Given the description of an element on the screen output the (x, y) to click on. 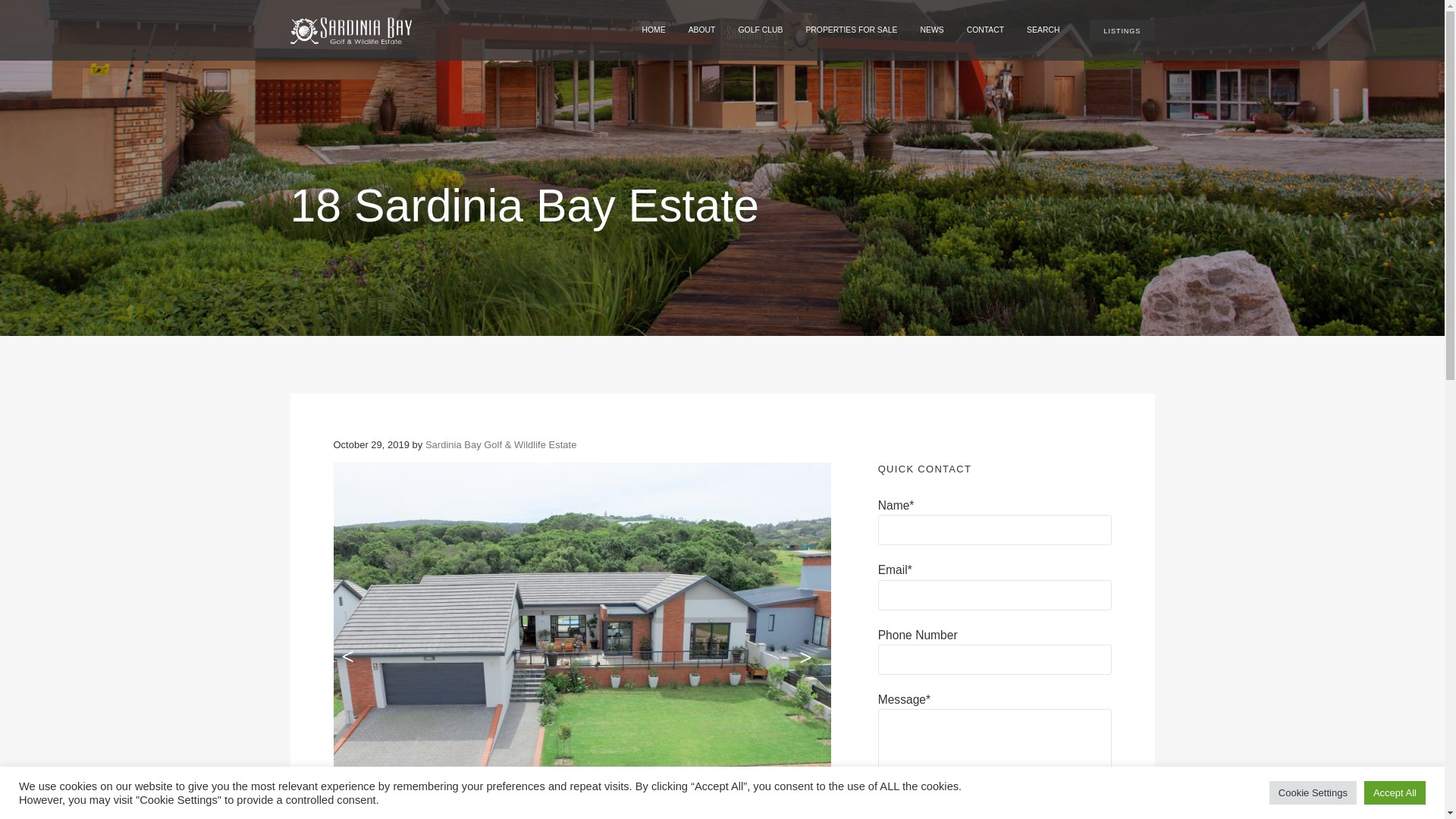
PROPERTIES FOR SALE (850, 30)
ABOUT (701, 30)
LISTINGS (1121, 29)
MENU (763, 13)
MENU (695, 13)
GOLF CLUB (759, 30)
MENU (877, 13)
MENU (984, 13)
CONTACT (984, 30)
